Given the description of an element on the screen output the (x, y) to click on. 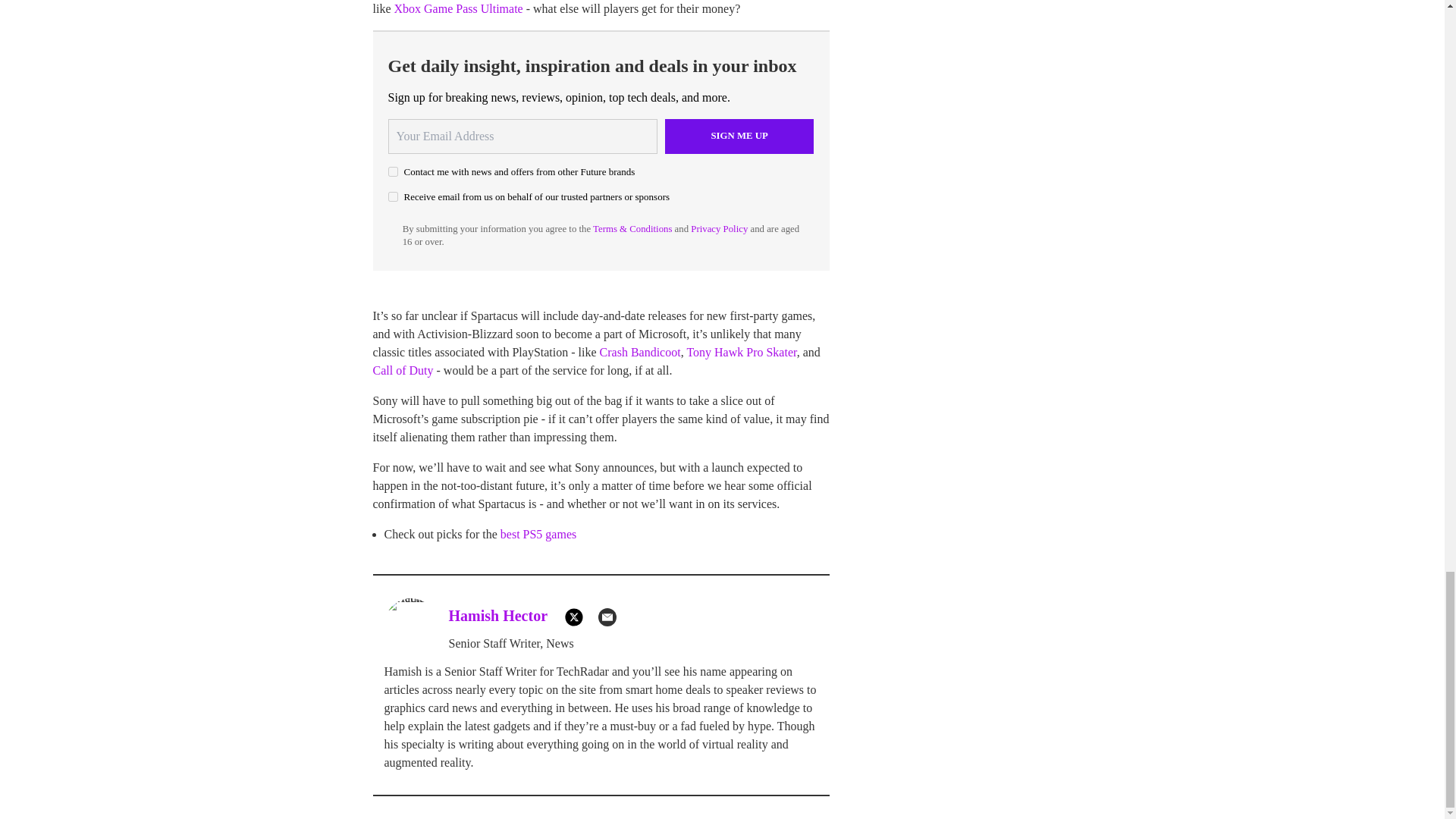
on (392, 171)
Sign me up (739, 135)
on (392, 196)
